Given the description of an element on the screen output the (x, y) to click on. 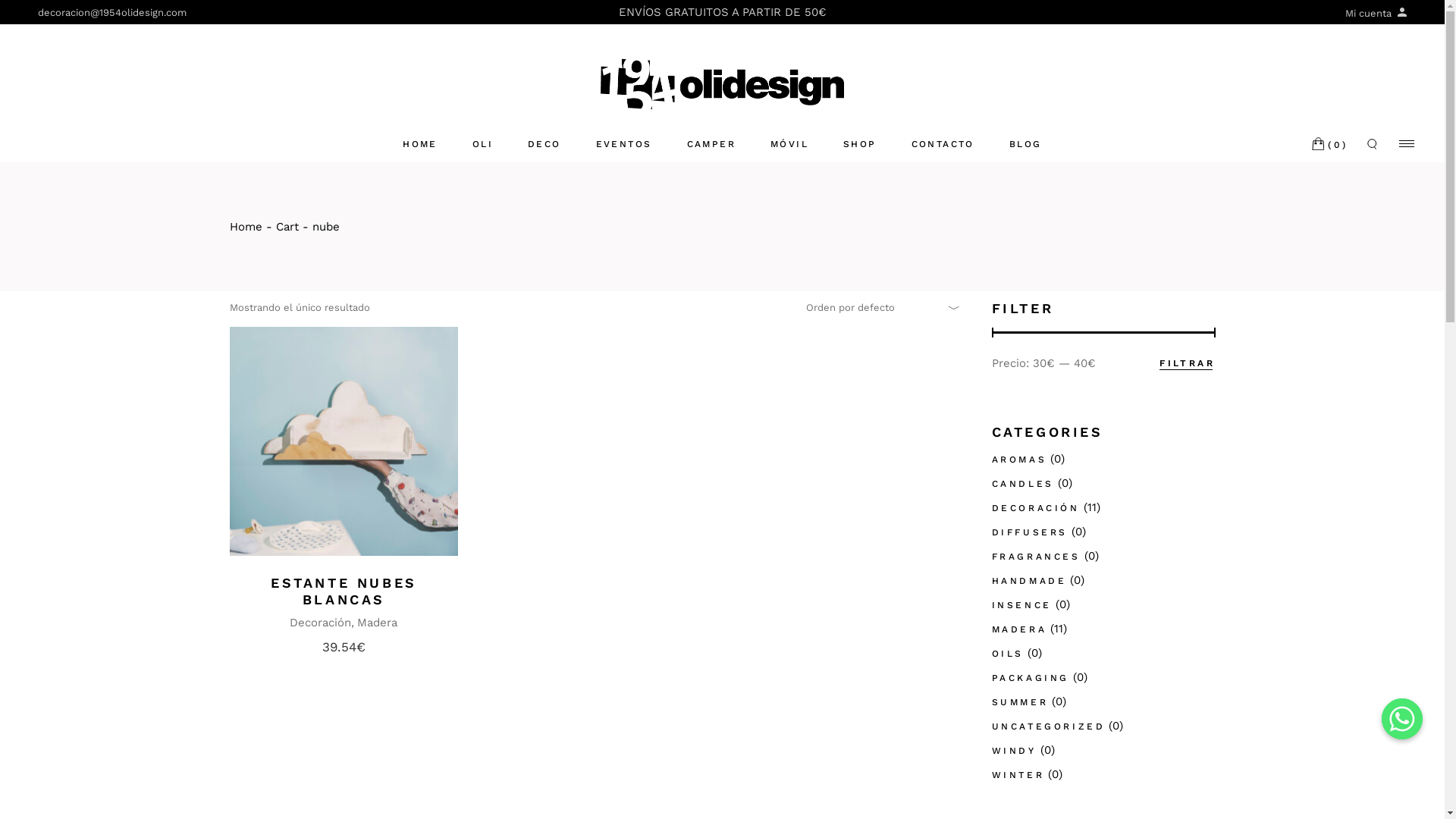
UNCATEGORIZED Element type: text (1048, 726)
DECO Element type: text (544, 143)
SUMMER Element type: text (1019, 701)
PACKAGING Element type: text (1030, 677)
INSENCE Element type: text (1021, 604)
Mi cuenta Element type: text (1375, 12)
AROMAS Element type: text (1019, 459)
CAMPER Element type: text (711, 143)
MADERA Element type: text (1019, 629)
WINTER Element type: text (1017, 774)
CANDLES Element type: text (1022, 483)
CONTACTO Element type: text (942, 143)
HANDMADE Element type: text (1028, 580)
decoracion@1954olidesign.com Element type: text (111, 11)
HOME Element type: text (419, 143)
(0) Element type: text (1329, 145)
Madera Element type: text (377, 622)
WINDY Element type: text (1013, 750)
OILS Element type: text (1007, 653)
FILTRAR Element type: text (1186, 363)
FRAGRANCES Element type: text (1035, 556)
Cart Element type: text (287, 226)
Home Element type: text (245, 226)
EVENTOS Element type: text (624, 143)
SHOP Element type: text (859, 143)
BLOG Element type: text (1025, 143)
OLI Element type: text (482, 143)
DIFFUSERS Element type: text (1029, 532)
